Given the description of an element on the screen output the (x, y) to click on. 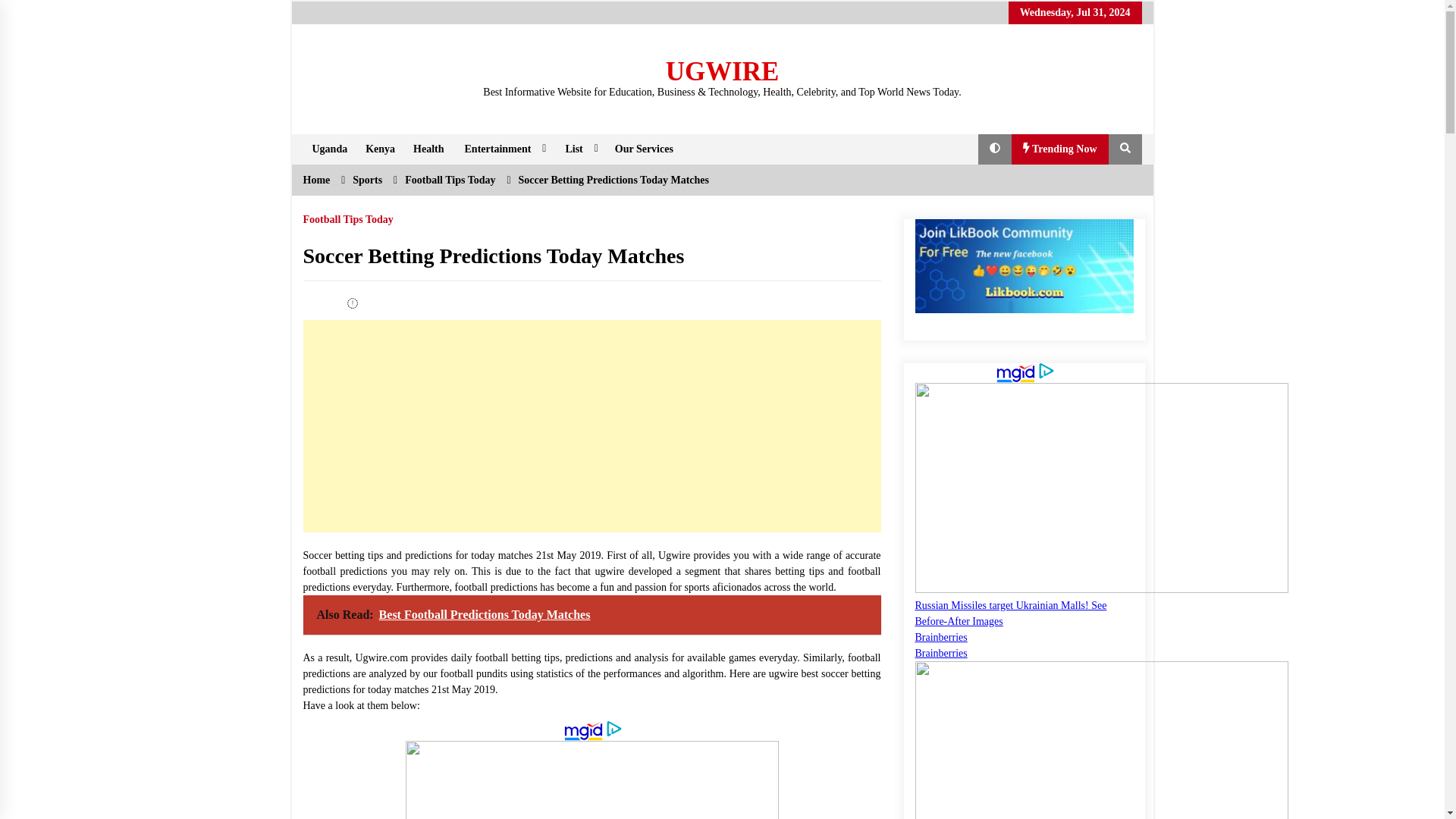
Uganda (329, 149)
List (579, 149)
Kenya (380, 149)
Health (428, 149)
UGWIRE (721, 71)
Entertainment (503, 149)
Advertisement (591, 426)
Our Services (643, 149)
